Given the description of an element on the screen output the (x, y) to click on. 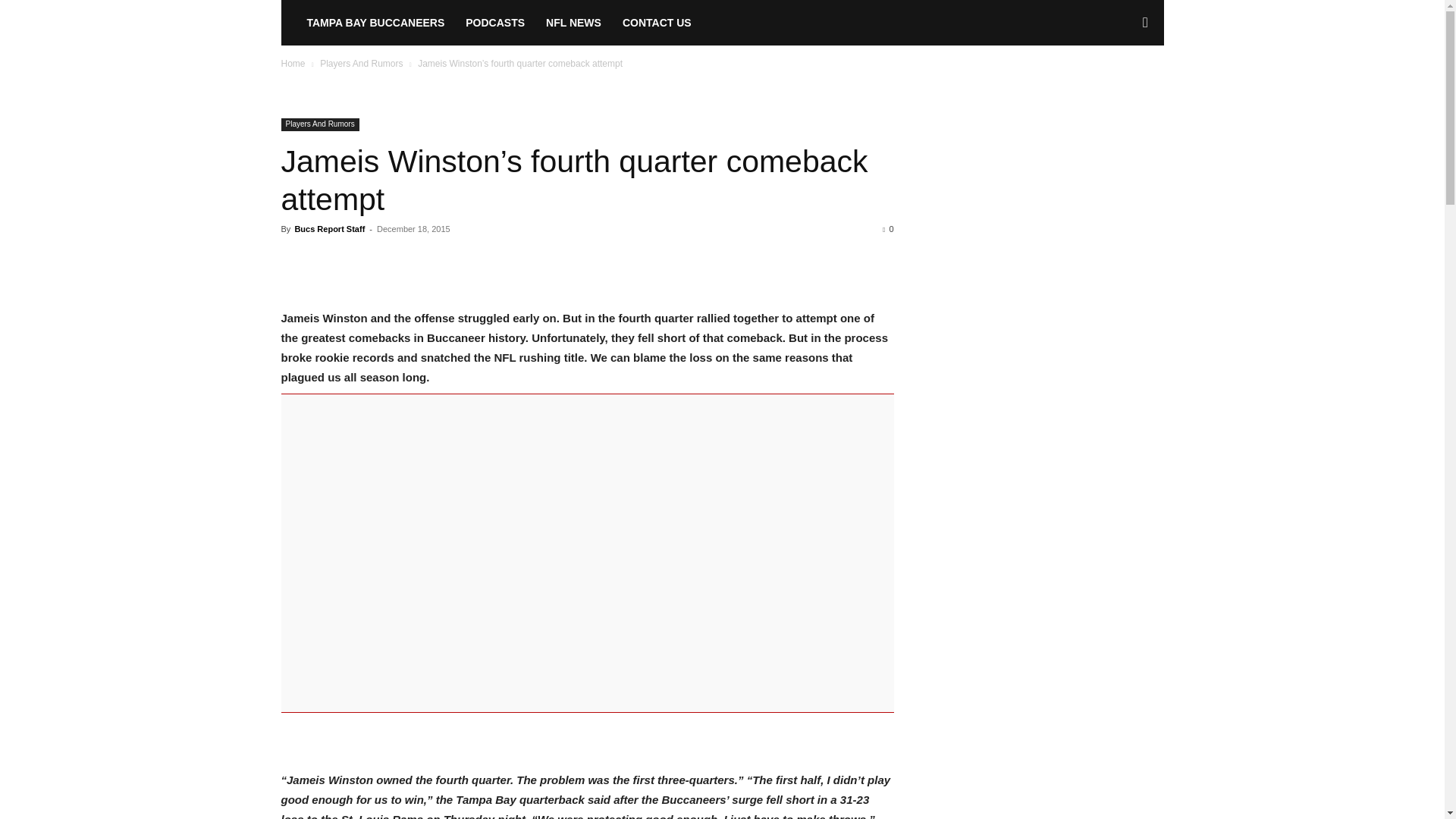
Home (292, 63)
Players And Rumors (319, 124)
Bucs Report Staff (329, 228)
CONTACT US (656, 22)
0 (887, 228)
PODCASTS (494, 22)
View all posts in Players And Rumors (361, 63)
TAMPA BAY BUCCANEERS (374, 22)
Players And Rumors (361, 63)
NFL NEWS (573, 22)
